Given the description of an element on the screen output the (x, y) to click on. 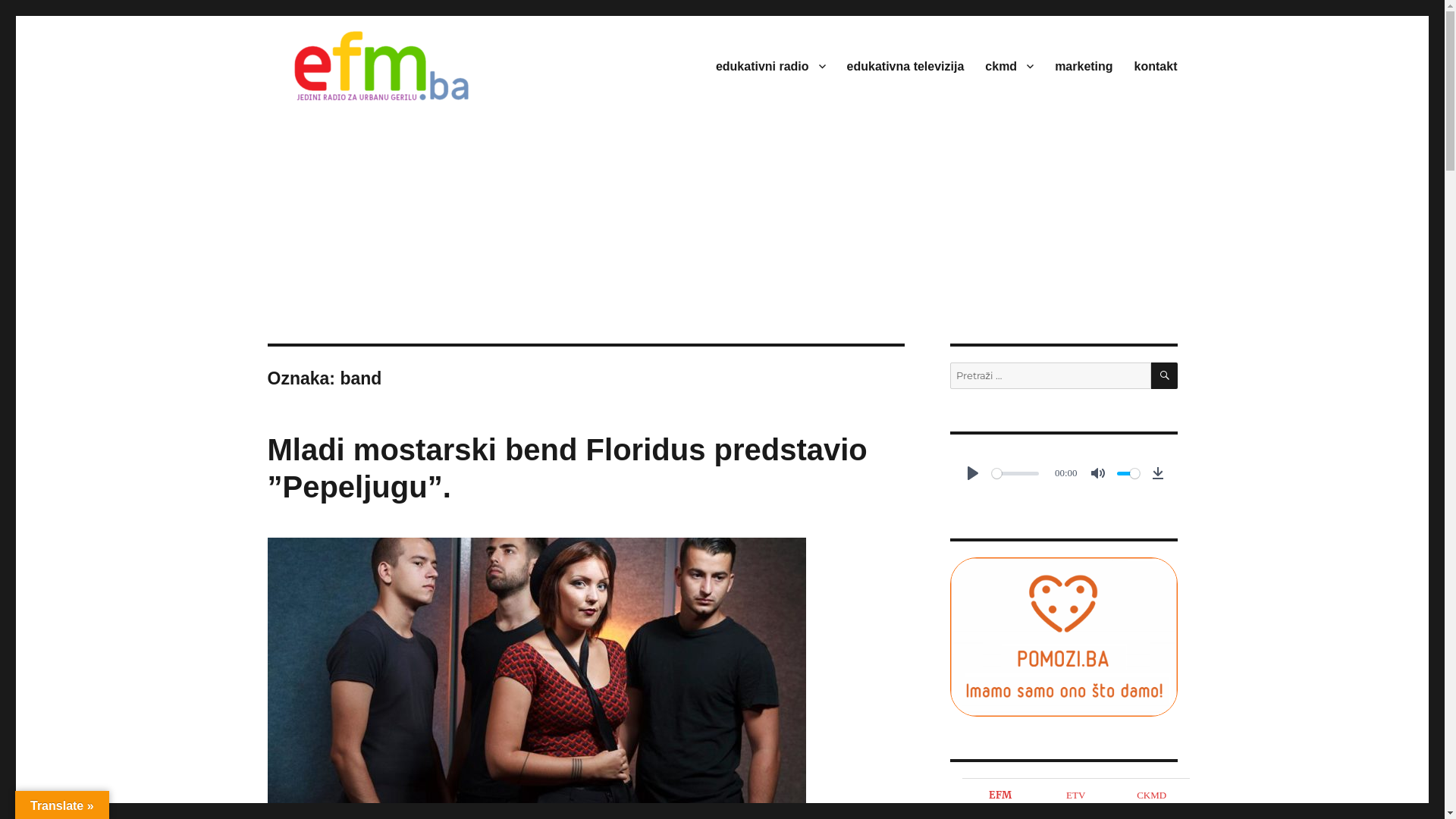
edukativni radio Element type: text (770, 65)
Advertisement Element type: hover (721, 231)
kontakt Element type: text (1155, 65)
ckmd Element type: text (1009, 65)
edukativna televizija Element type: text (905, 65)
ETV Element type: text (1075, 793)
Download Element type: text (1157, 473)
PLAY Element type: text (972, 473)
MUTE Element type: text (1097, 473)
EFM Element type: text (1000, 793)
marketing Element type: text (1083, 65)
EFM.BA Element type: text (329, 127)
CKMD Element type: text (1151, 793)
